Given the description of an element on the screen output the (x, y) to click on. 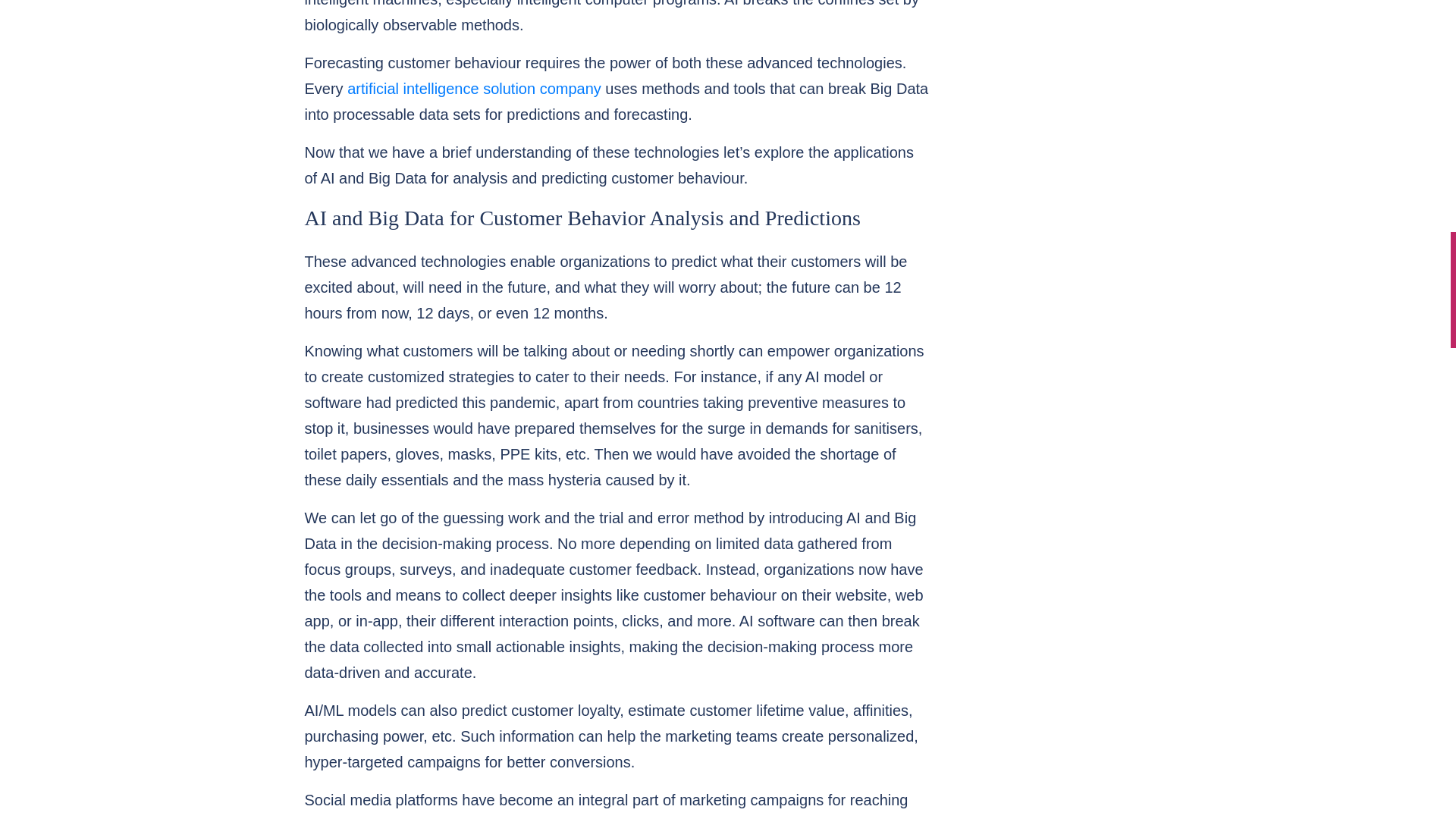
artificial intelligence solution company (474, 88)
